Given the description of an element on the screen output the (x, y) to click on. 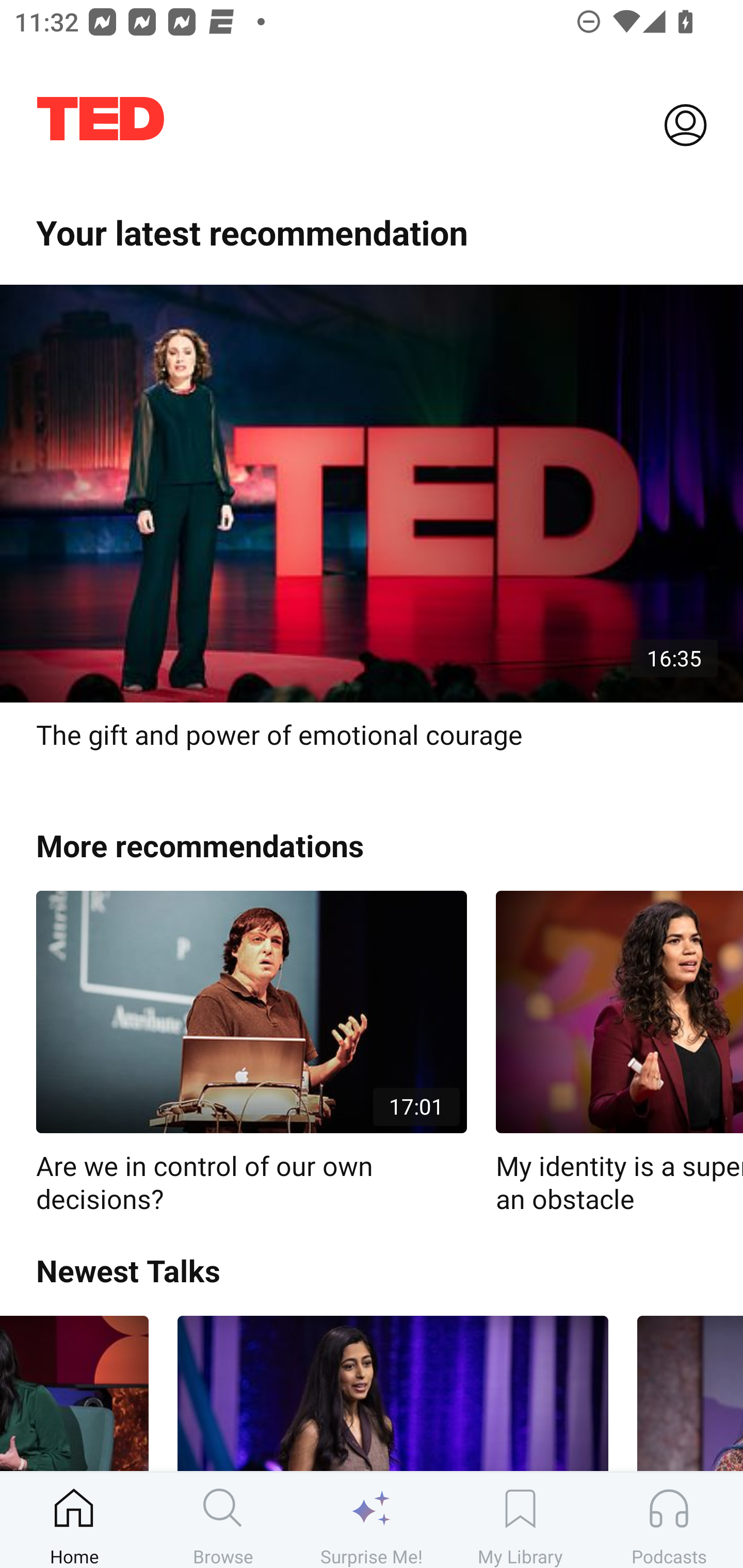
17:01 Are we in control of our own decisions? (251, 1053)
My identity is a superpower -- not an obstacle (619, 1053)
Home (74, 1520)
Browse (222, 1520)
Surprise Me! (371, 1520)
My Library (519, 1520)
Podcasts (668, 1520)
